Given the description of an element on the screen output the (x, y) to click on. 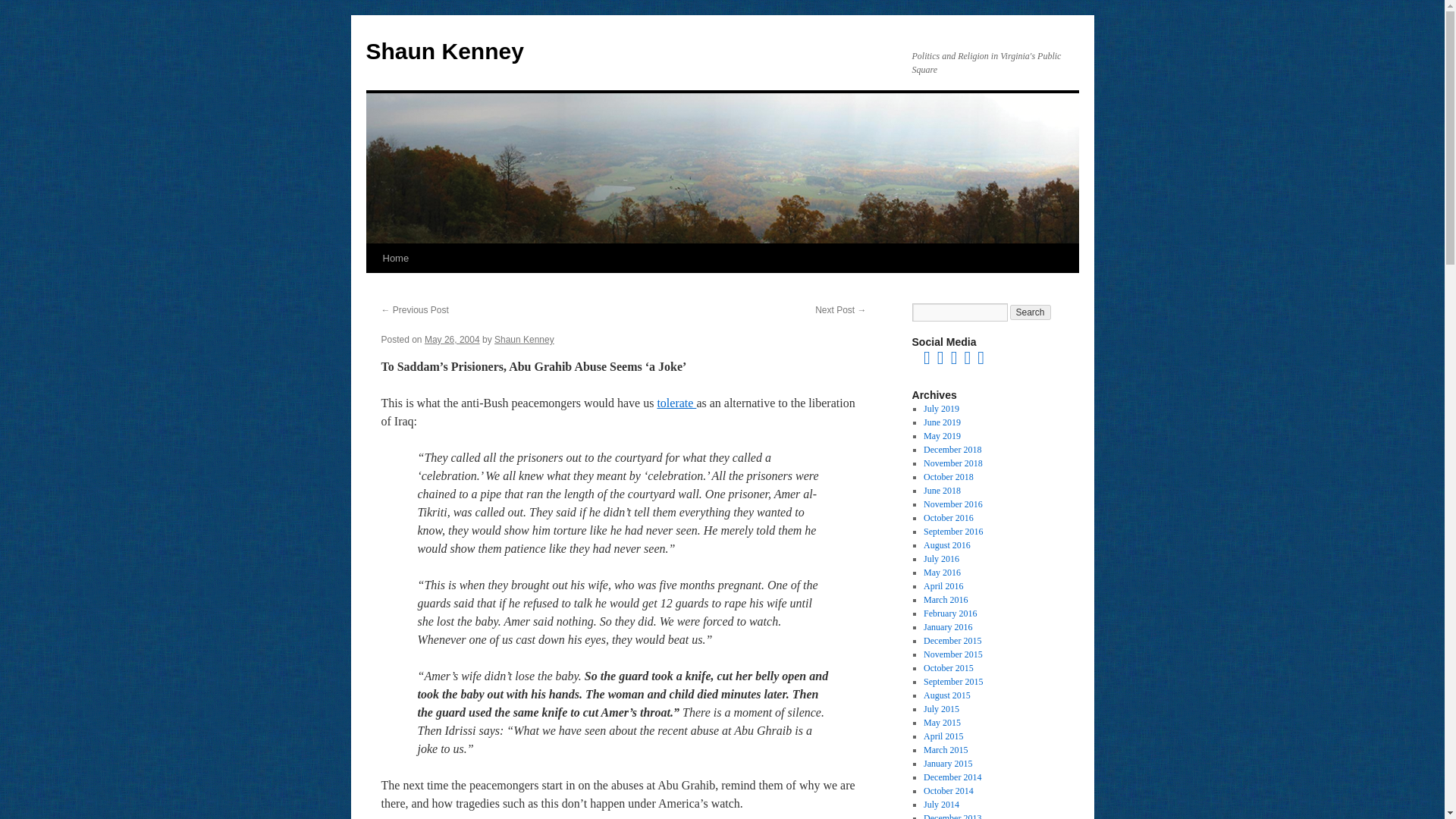
July 2016 (941, 558)
December 2018 (952, 449)
June 2019 (941, 421)
November 2018 (952, 462)
June 2018 (941, 490)
May 2016 (941, 572)
April 2016 (942, 585)
July 2019 (941, 408)
tolerate (675, 402)
November 2016 (952, 503)
Search (1030, 312)
Home (395, 258)
Shaun Kenney (524, 339)
October 2016 (948, 517)
May 26, 2004 (452, 339)
